Given the description of an element on the screen output the (x, y) to click on. 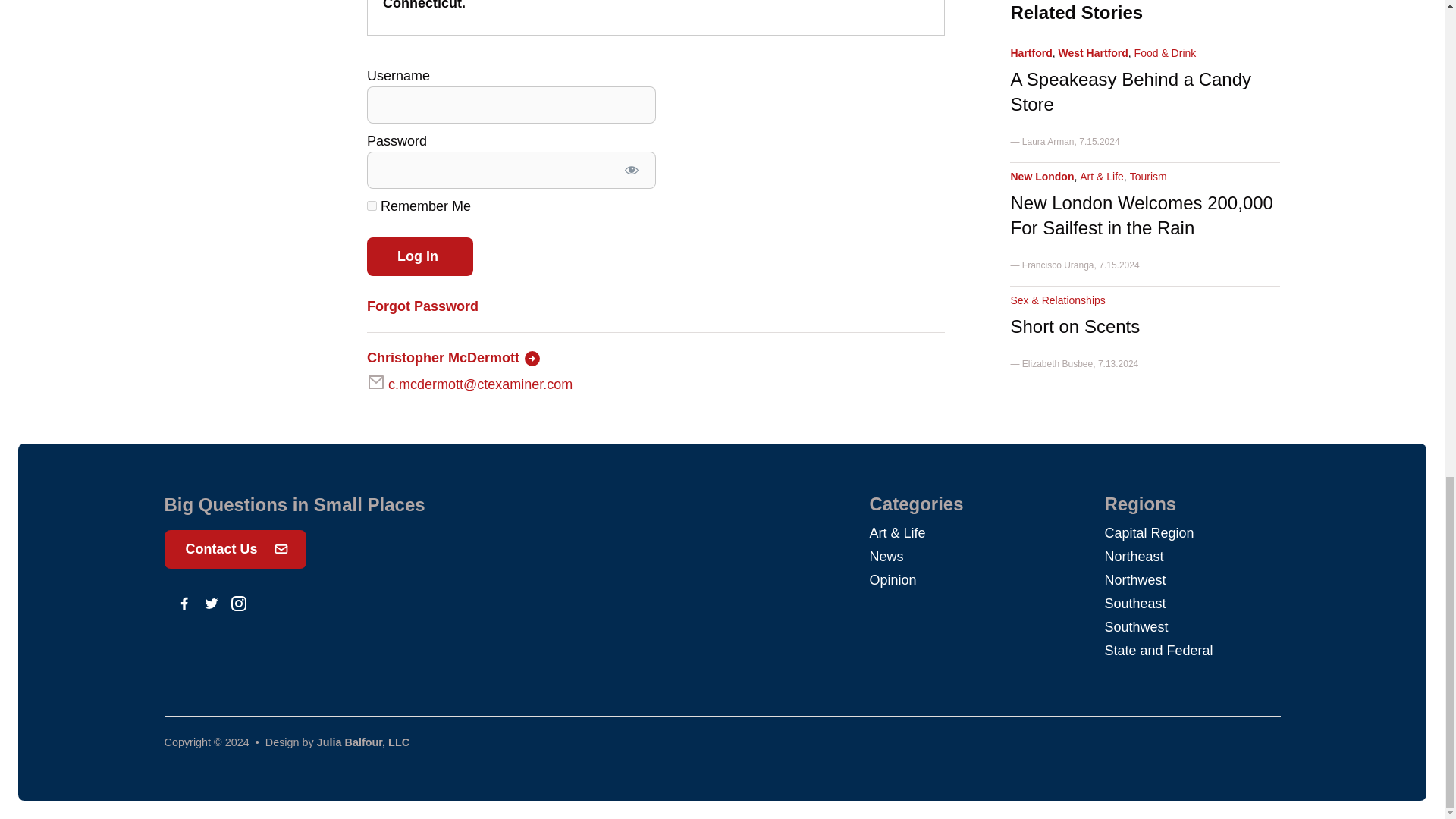
forever (371, 205)
facebook (183, 603)
Log In (419, 256)
